Given the description of an element on the screen output the (x, y) to click on. 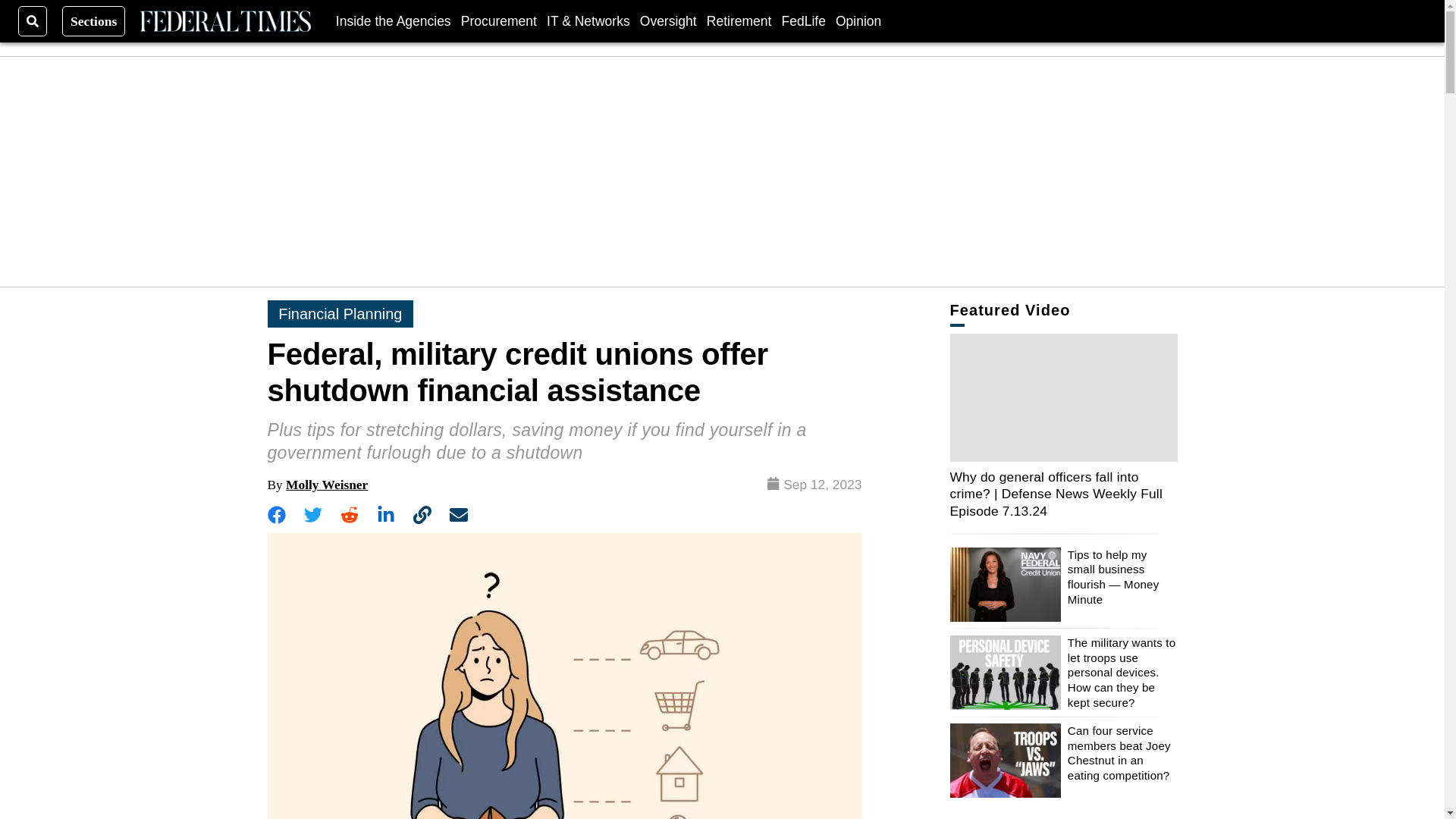
Federal Times Logo (224, 20)
Procurement (499, 20)
Opinion (857, 20)
Retirement (738, 20)
Sections (93, 20)
FedLife (802, 20)
Inside the Agencies (393, 20)
Oversight (668, 20)
